Given the description of an element on the screen output the (x, y) to click on. 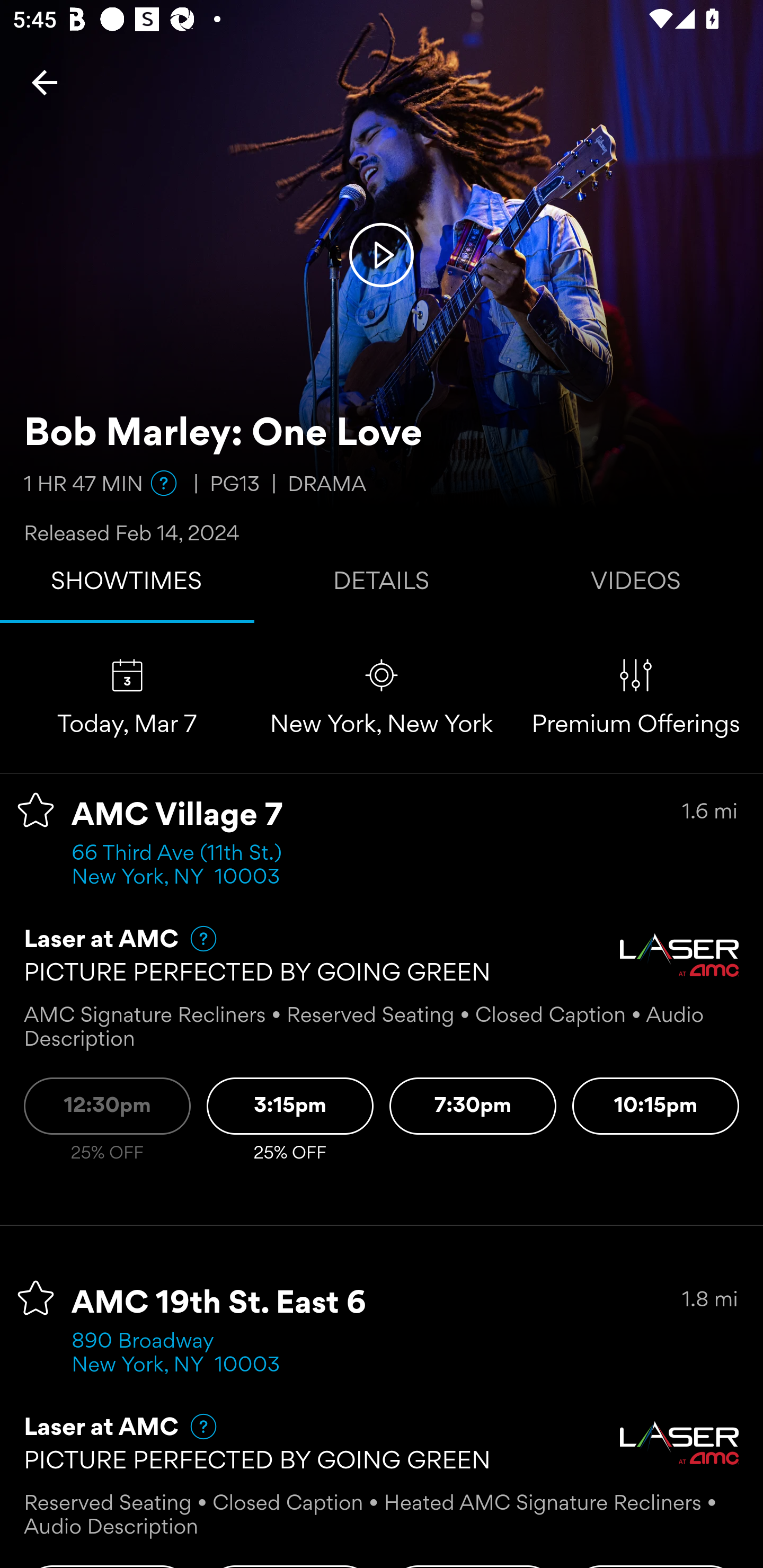
Back (44, 82)
Play (381, 254)
Help (163, 482)
SHOWTIMES
Tab 1 of 3 (127, 584)
DETAILS
Tab 2 of 3 (381, 584)
VIDEOS
Tab 3 of 3 (635, 584)
Change selected day
Today, Mar 7 (127, 697)
Change location
New York, New York (381, 697)
Premium Offerings
Premium Offerings (635, 697)
AMC Village 7 (177, 816)
66 Third Ave (11th St.)  
New York, NY  10003 (182, 866)
Help (195, 938)
AMC Village 7 Laser at AMC 3:15pm Showtime Button (289, 1105)
AMC Village 7 Laser at AMC 7:30pm Showtime Button (472, 1105)
AMC Village 7 Laser at AMC 10:15pm Showtime Button (655, 1105)
AMC 19th St. East 6 (219, 1303)
890 Broadway  
New York, NY  10003 (176, 1353)
Help (195, 1426)
